Given the description of an element on the screen output the (x, y) to click on. 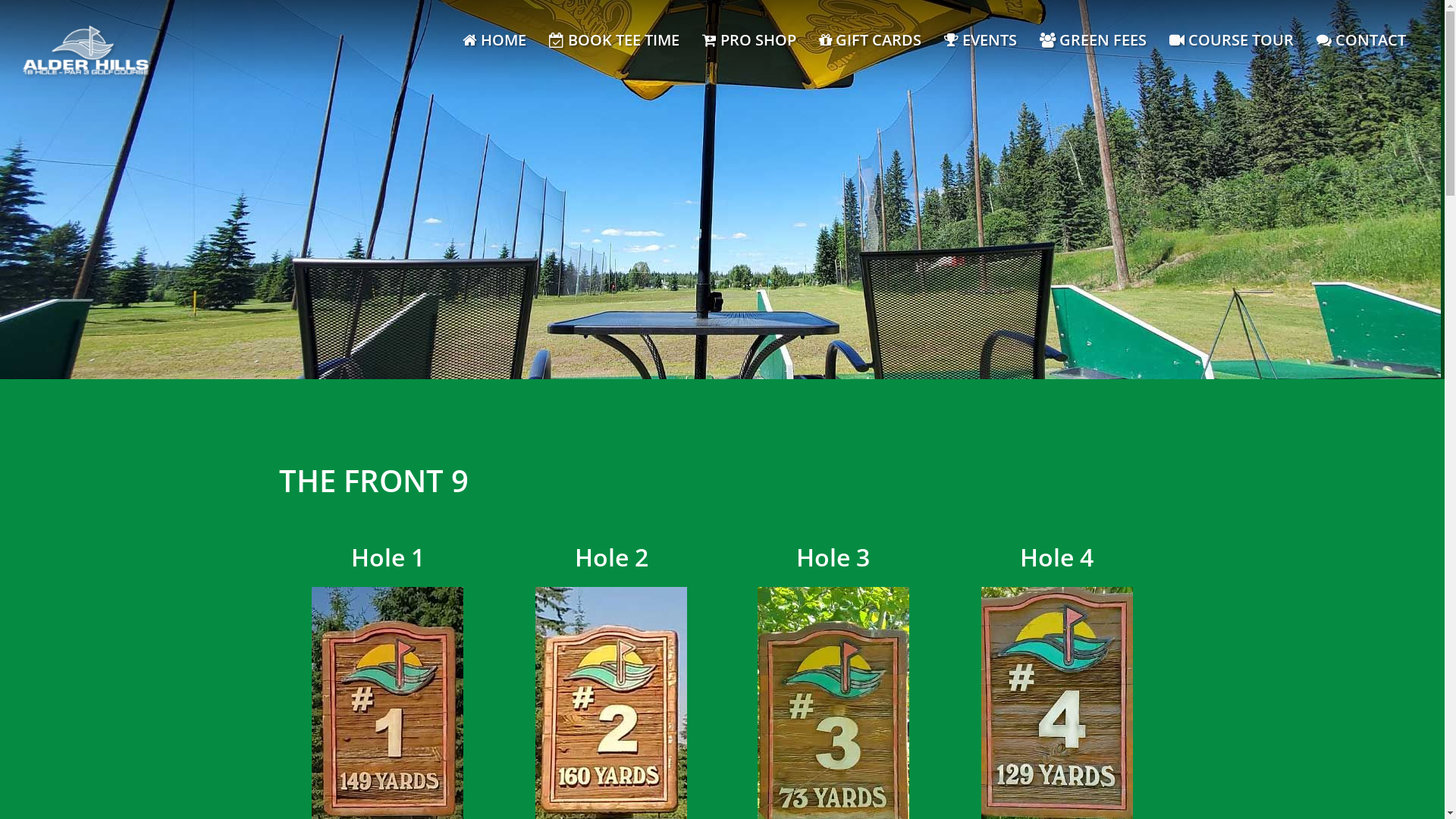
EVENTS Element type: text (980, 39)
HOME Element type: text (494, 39)
GIFT CARDS Element type: text (869, 39)
GREEN FEES Element type: text (1092, 39)
COURSE TOUR Element type: text (1231, 39)
PRO SHOP Element type: text (748, 39)
CONTACT Element type: text (1361, 39)
BOOK TEE TIME Element type: text (613, 39)
